Given the description of an element on the screen output the (x, y) to click on. 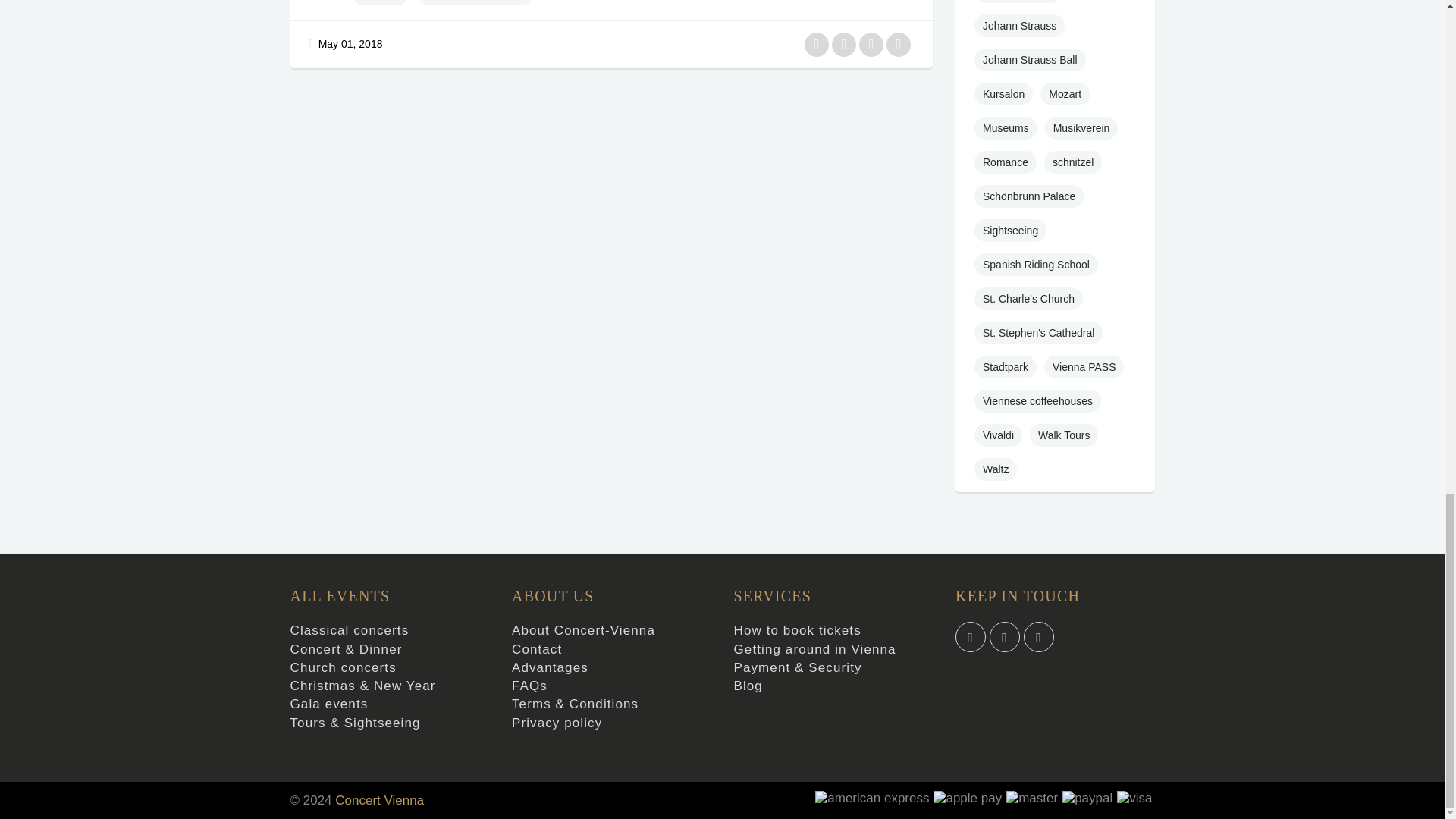
Show articles tagged Hop-on hop-off (1017, 1)
History (380, 2)
